Given the description of an element on the screen output the (x, y) to click on. 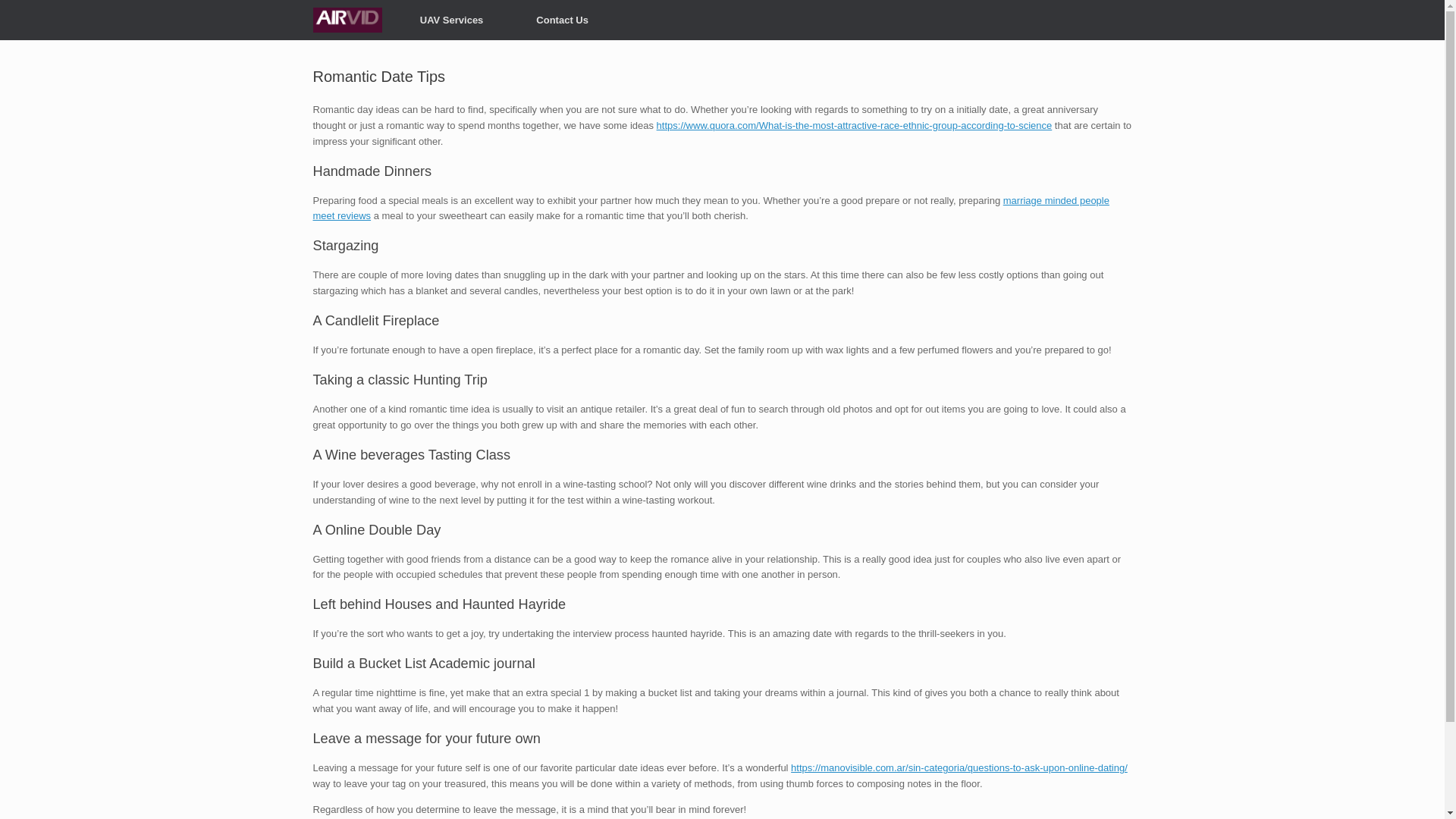
marriage minded people meet reviews (710, 207)
UAV Services (452, 20)
AIRVID (347, 20)
Contact Us (561, 20)
